Given the description of an element on the screen output the (x, y) to click on. 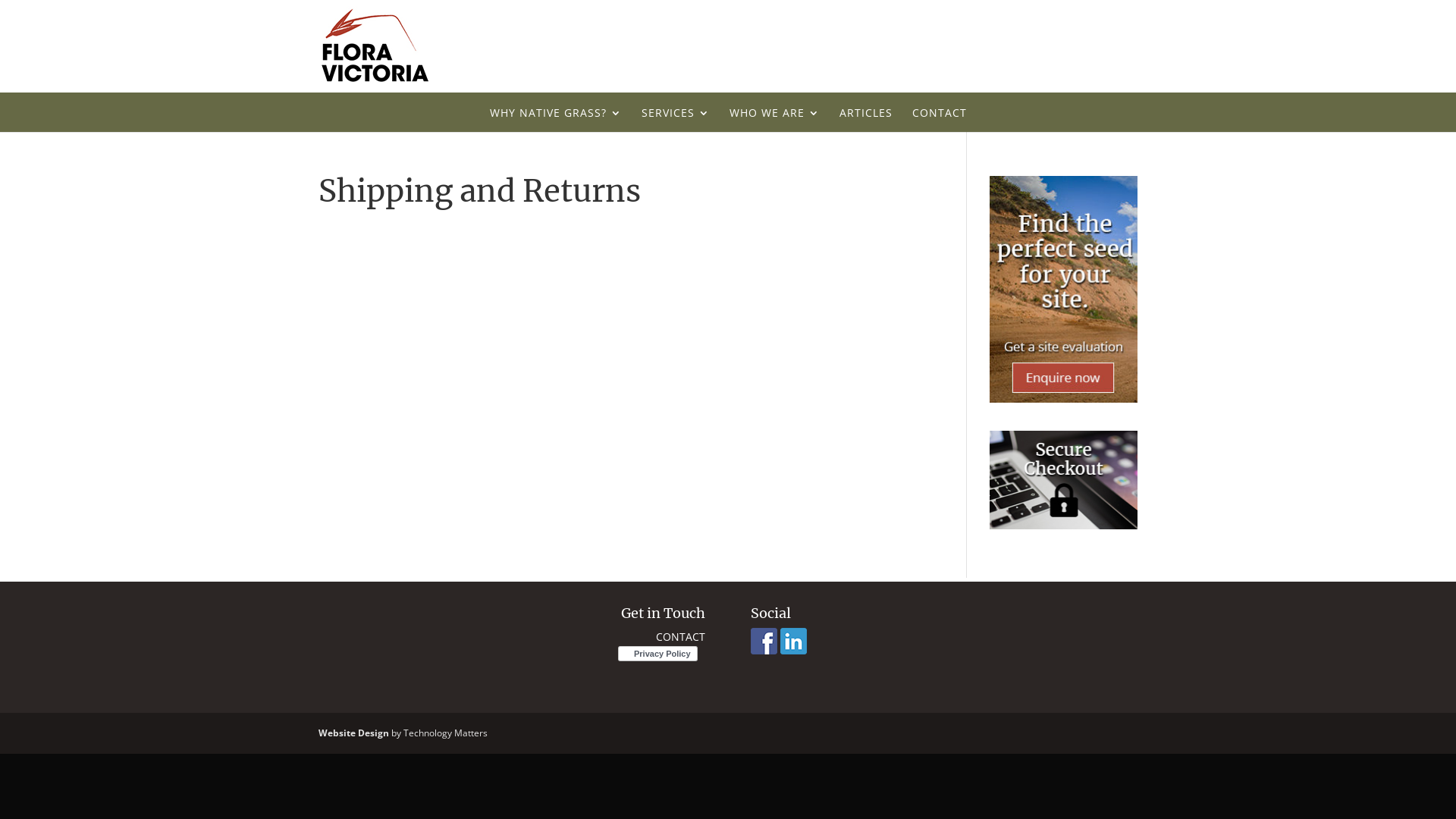
WHO WE ARE Element type: text (774, 119)
Privacy Policy Element type: hover (661, 654)
CONTACT Element type: text (680, 636)
Website Design Element type: text (353, 732)
WHY NATIVE GRASS? Element type: text (555, 119)
ARTICLES Element type: text (864, 119)
SERVICES Element type: text (675, 119)
CONTACT Element type: text (938, 119)
